Given the description of an element on the screen output the (x, y) to click on. 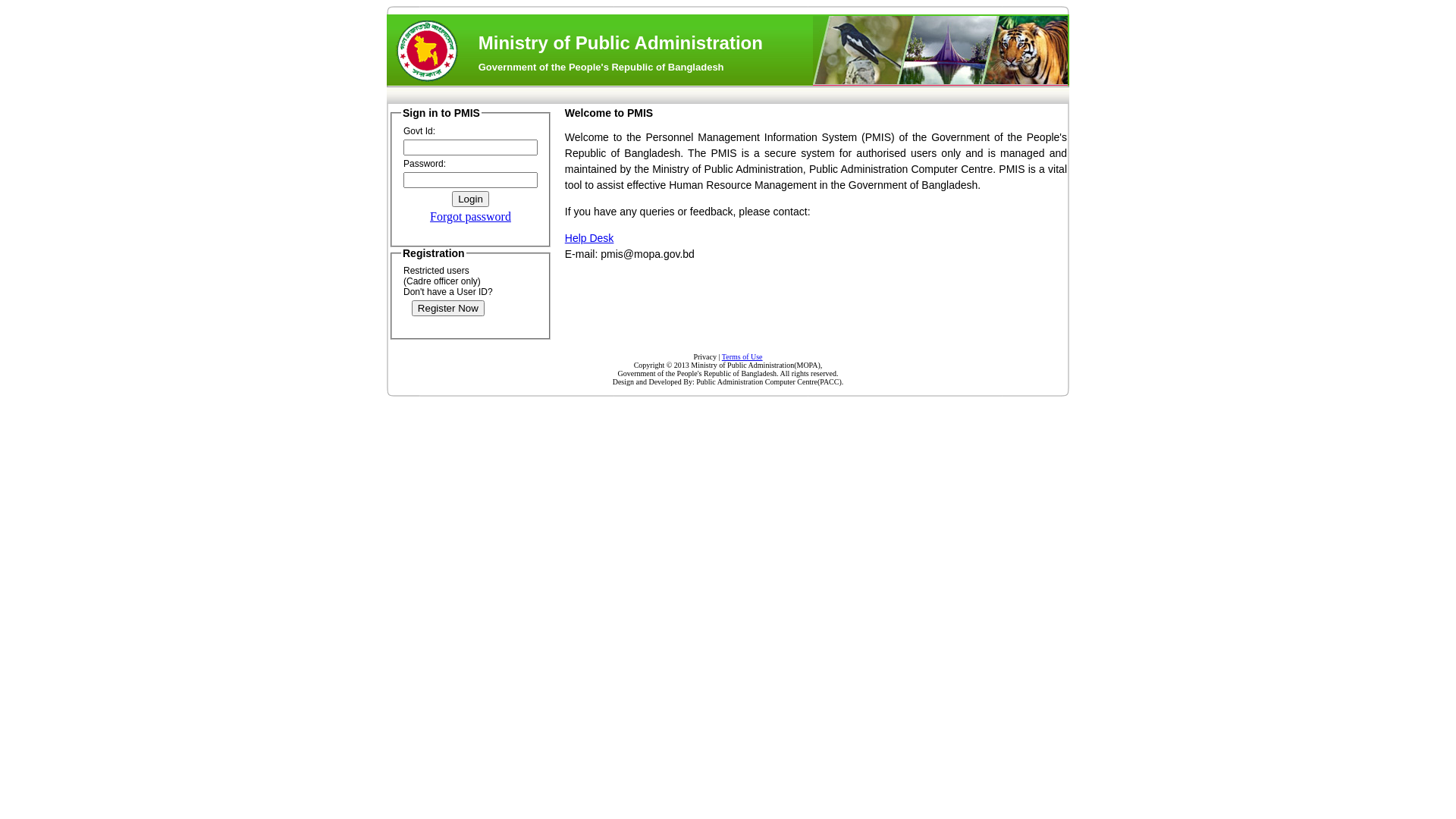
Login Element type: text (470, 199)
Help Desk Element type: text (589, 238)
Forgot password Element type: text (470, 216)
Register Now Element type: text (447, 308)
Terms of Use Element type: text (741, 356)
